Given the description of an element on the screen output the (x, y) to click on. 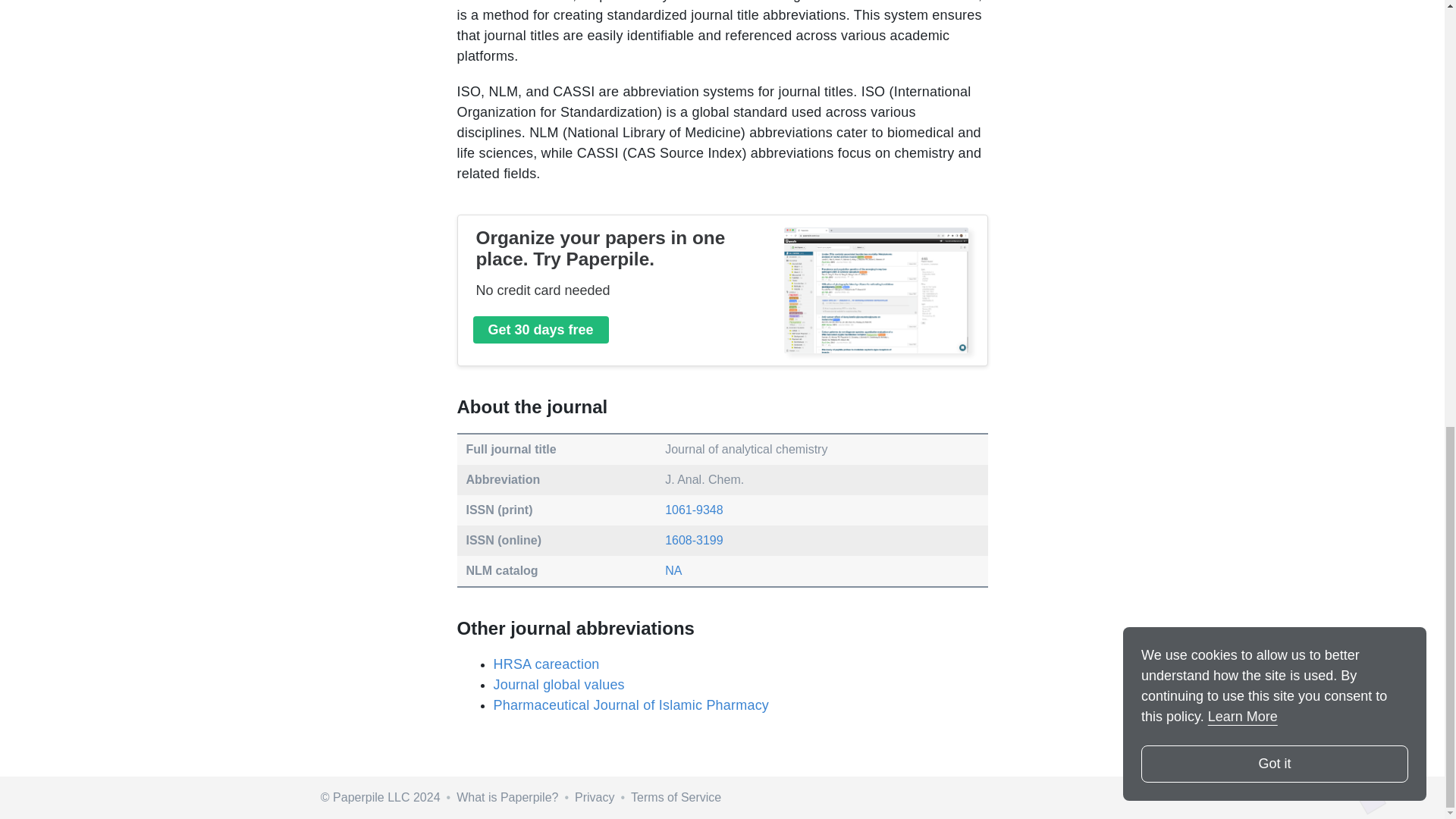
Journal global values (558, 684)
HRSA careaction (545, 663)
Privacy (594, 797)
What is Paperpile? (506, 797)
Get 30 days free (540, 329)
Pharmaceutical Journal of Islamic Pharmacy (630, 704)
NA (673, 570)
Terms of Service (675, 797)
1608-3199 (694, 540)
1061-9348 (694, 509)
